Given the description of an element on the screen output the (x, y) to click on. 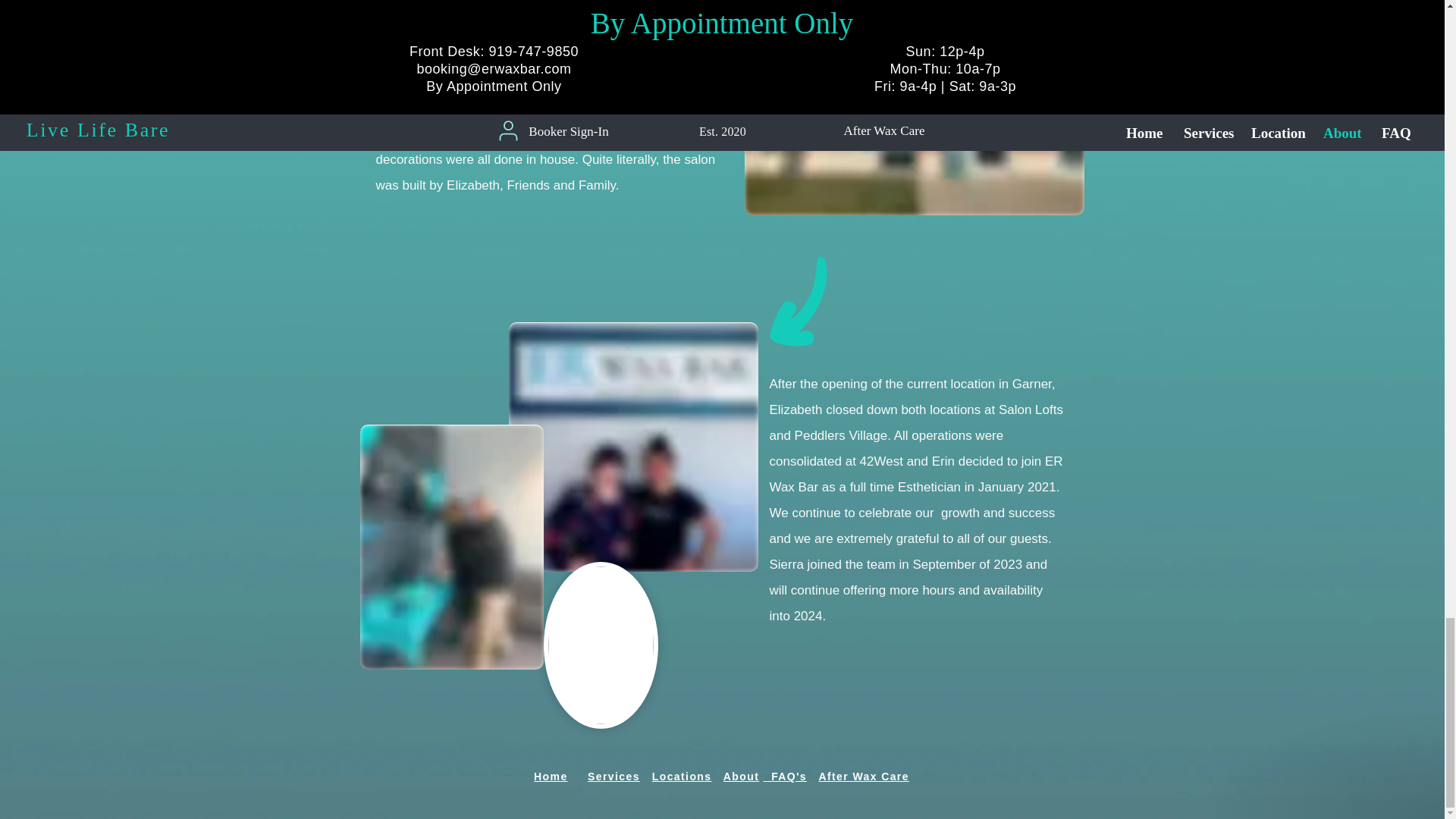
After Wax Care (863, 776)
Locations    (687, 776)
Services    (620, 776)
About    (747, 776)
Home      (561, 776)
FAQ's    (794, 776)
